Given the description of an element on the screen output the (x, y) to click on. 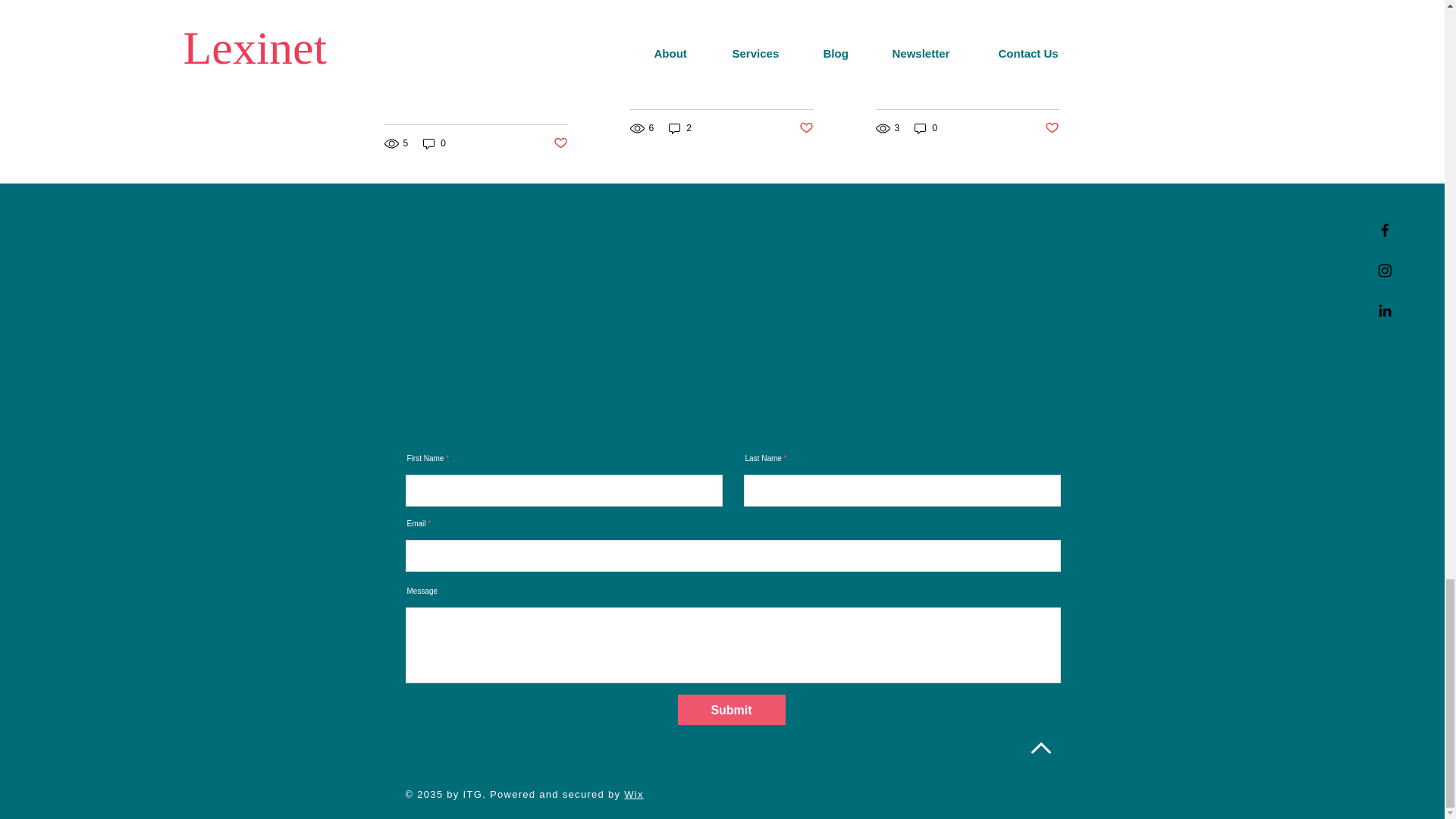
Got Value? Find It, Market It, Reap the Profits (966, 74)
0 (434, 143)
0 (925, 128)
Post not marked as liked (560, 143)
Post not marked as liked (806, 128)
2 (679, 128)
Wix (633, 794)
5 Tips for Boosting Your Donor Retention Rate (720, 74)
Submit (732, 709)
Post not marked as liked (1052, 128)
